Given the description of an element on the screen output the (x, y) to click on. 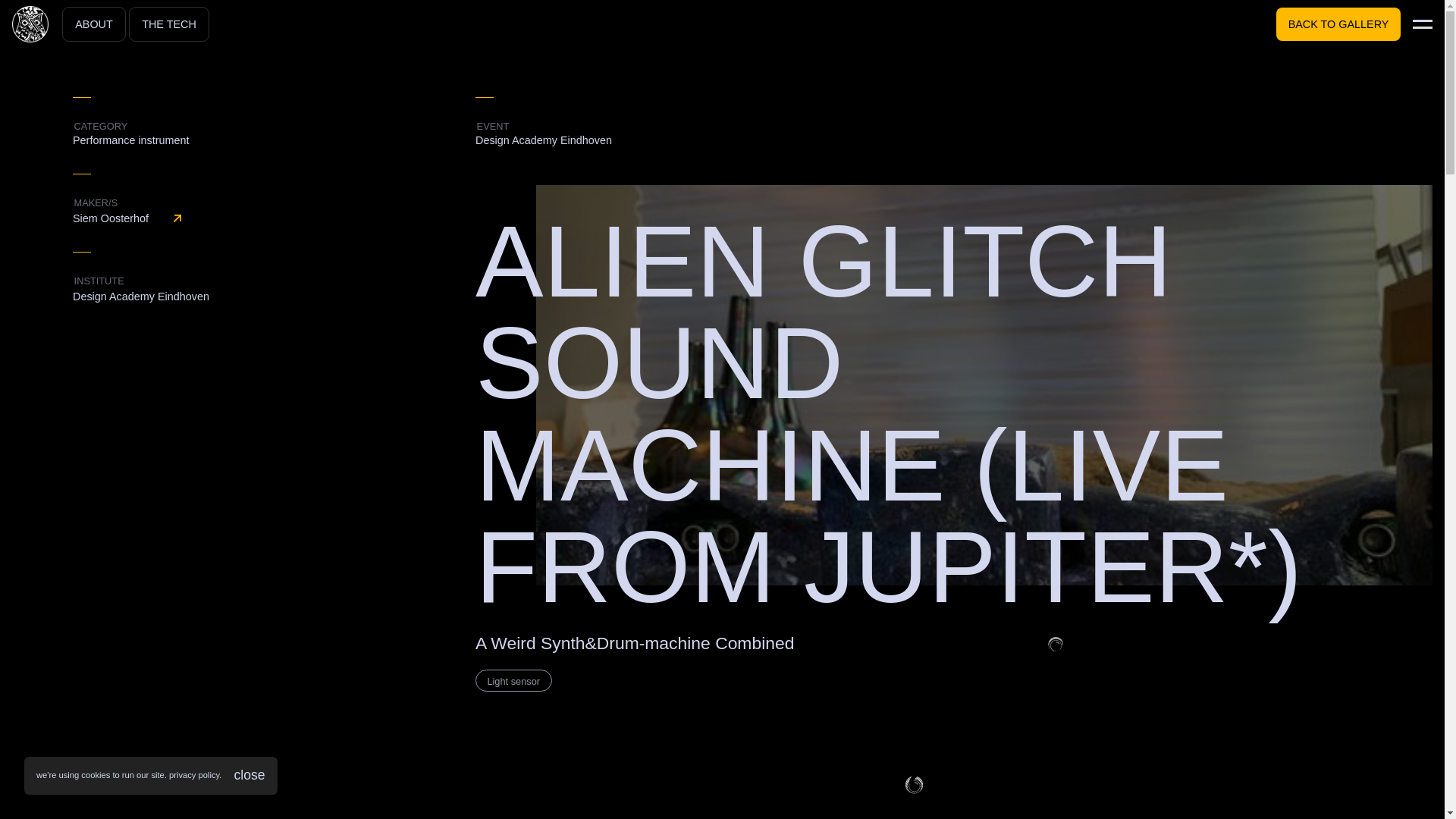
close (248, 775)
THE TECH (168, 23)
privacy policy (193, 774)
Siem Oosterhof (274, 218)
ABOUT (93, 23)
BACK TO GALLERY (1338, 23)
